Given the description of an element on the screen output the (x, y) to click on. 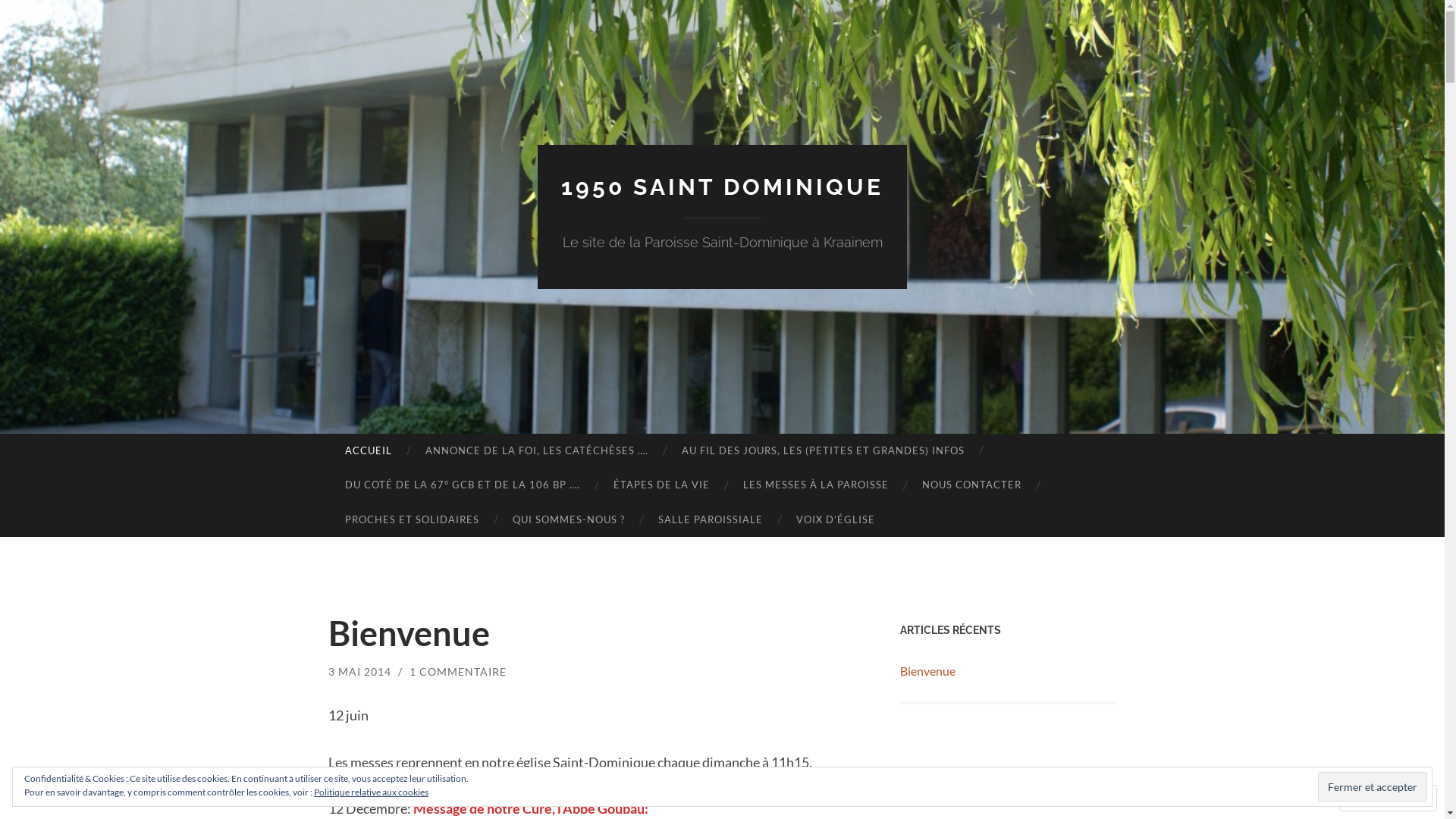
ACCUEIL Element type: text (367, 450)
PROCHES ET SOLIDAIRES Element type: text (411, 519)
AU FIL DES JOURS, LES (PETITES ET GRANDES) INFOS Element type: text (823, 450)
1950 SAINT DOMINIQUE Element type: text (722, 186)
SALLE PAROISSIALE Element type: text (710, 519)
Suivre Element type: text (1373, 797)
QUI SOMMES-NOUS ? Element type: text (568, 519)
NOUS CONTACTER Element type: text (971, 484)
3 MAI 2014 Element type: text (358, 671)
Bienvenue Element type: text (926, 670)
1 COMMENTAIRE Element type: text (457, 671)
Politique relative aux cookies Element type: text (370, 791)
Fermer et accepter Element type: text (1372, 786)
Bienvenue Element type: text (408, 632)
